Given the description of an element on the screen output the (x, y) to click on. 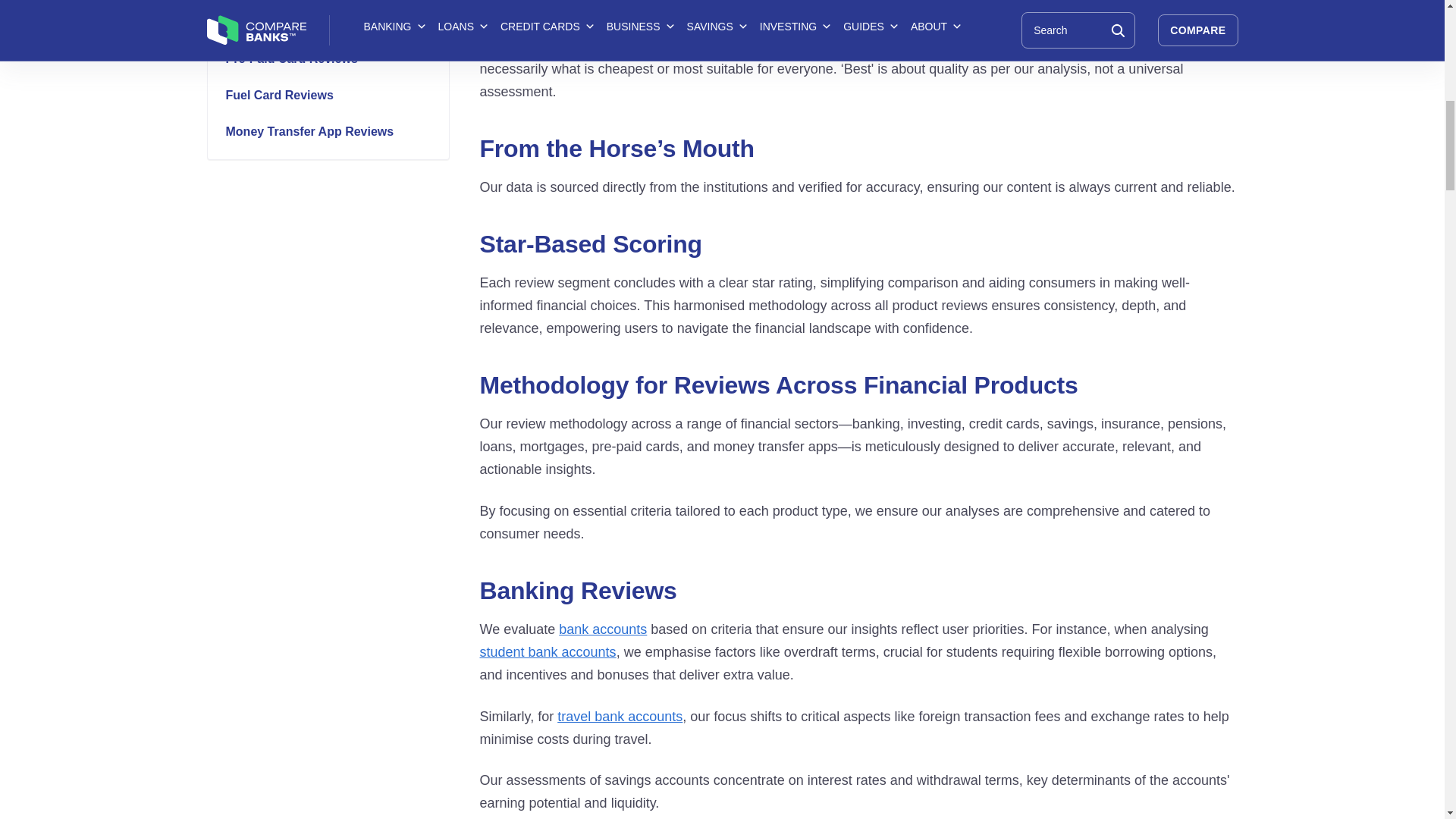
Pre-Paid Card Reviews (335, 58)
Mortgage Reviews (335, 22)
Money Transfer App Reviews (335, 131)
Fuel Card Reviews (335, 95)
